Given the description of an element on the screen output the (x, y) to click on. 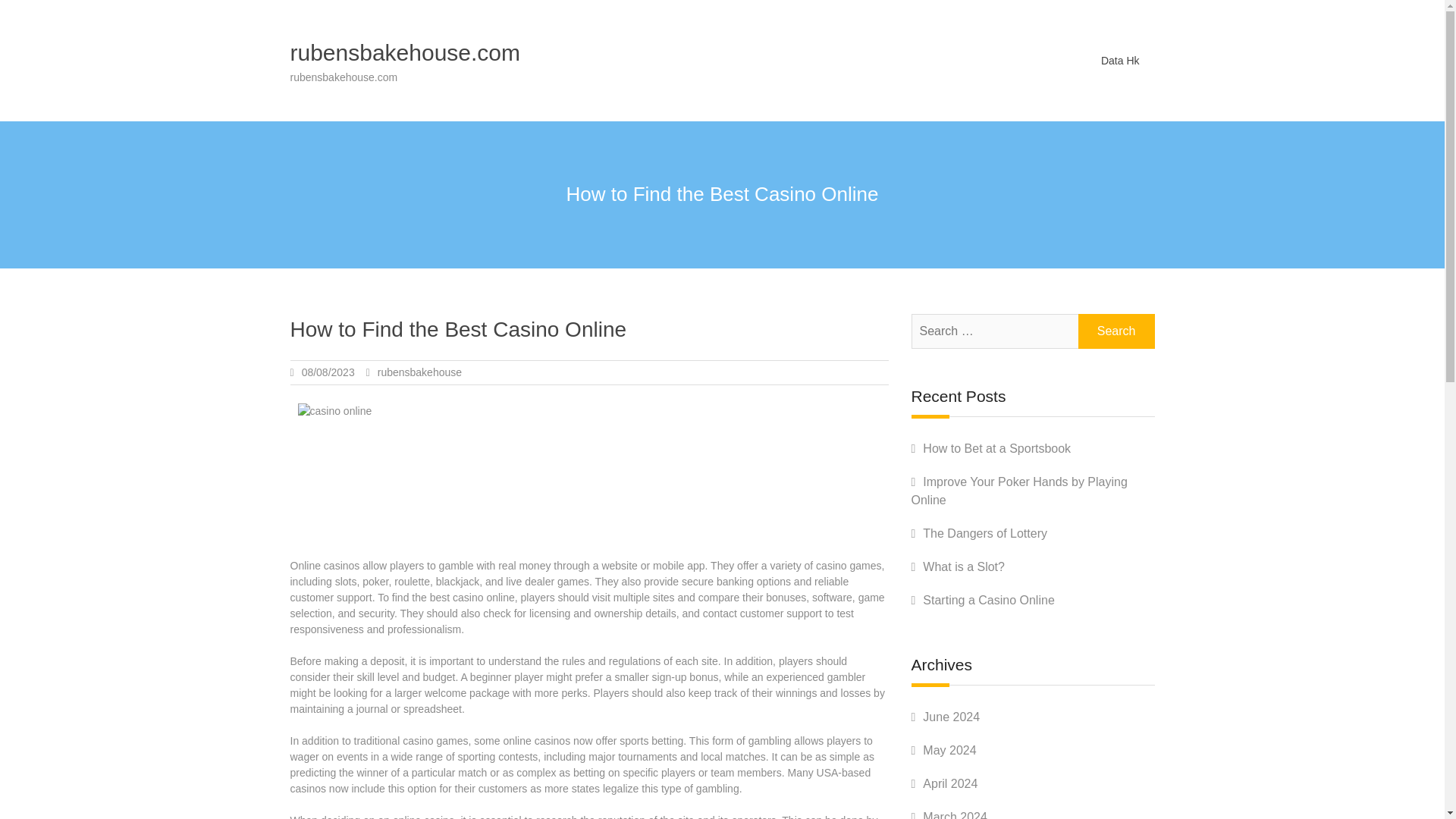
Search (1116, 330)
Improve Your Poker Hands by Playing Online (1018, 490)
What is a Slot? (963, 566)
The Dangers of Lottery (984, 533)
Search (1116, 330)
Starting a Casino Online (988, 599)
Data Hk (1120, 59)
May 2024 (949, 749)
rubensbakehouse (419, 372)
March 2024 (955, 814)
